Given the description of an element on the screen output the (x, y) to click on. 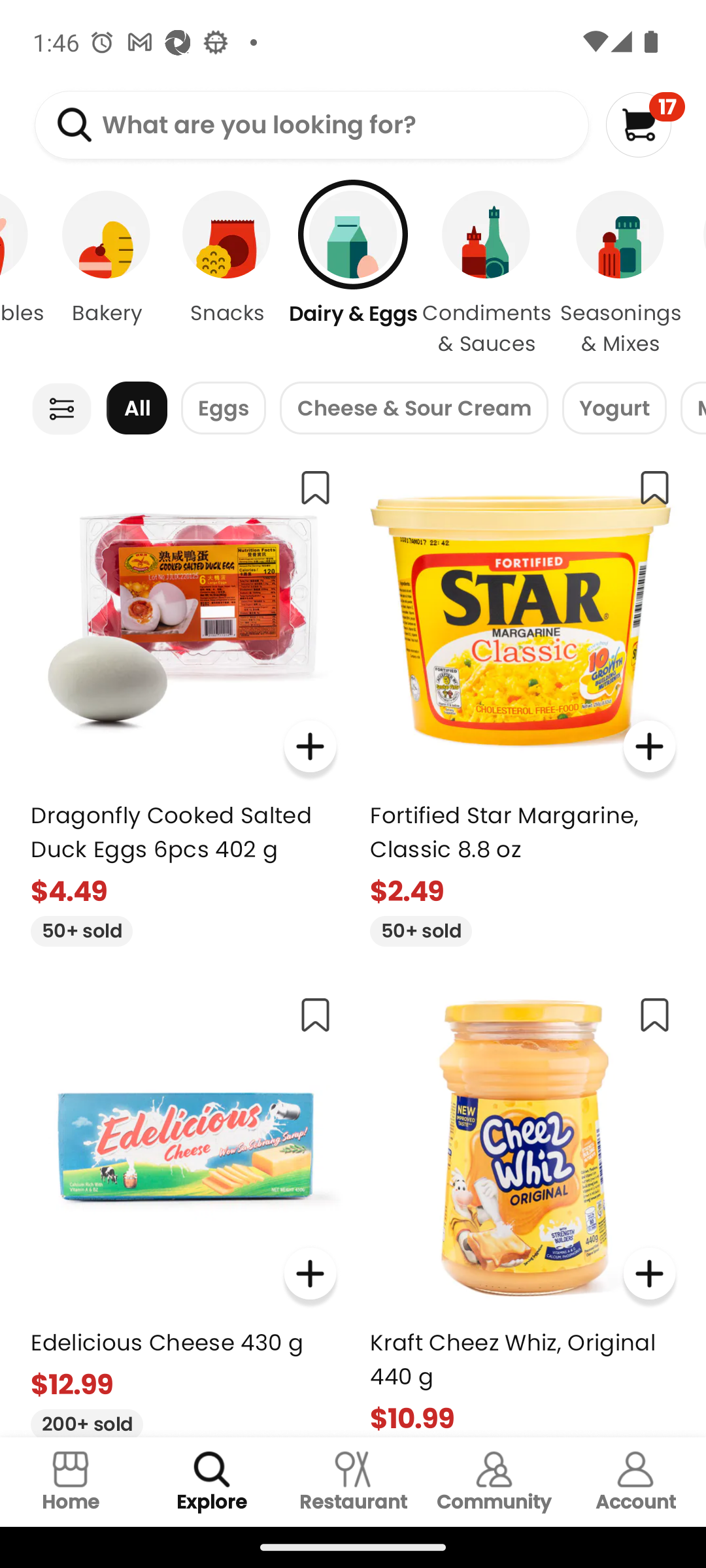
What are you looking for? (311, 124)
17 (644, 124)
Bakery (106, 274)
Snacks (226, 274)
Dairy & Eggs (352, 274)
Condiments & Sauces (486, 274)
Seasonings & Mixes (620, 274)
All (136, 407)
Eggs (223, 407)
Cheese & Sour Cream (413, 407)
Yogurt (613, 407)
Edelicious Cheese 430 g $12.99 200+ sold (182, 1208)
Kraft Cheez Whiz, Original 440 g $10.99 (522, 1208)
Home (70, 1482)
Explore (211, 1482)
Restaurant (352, 1482)
Community (493, 1482)
Account (635, 1482)
